Given the description of an element on the screen output the (x, y) to click on. 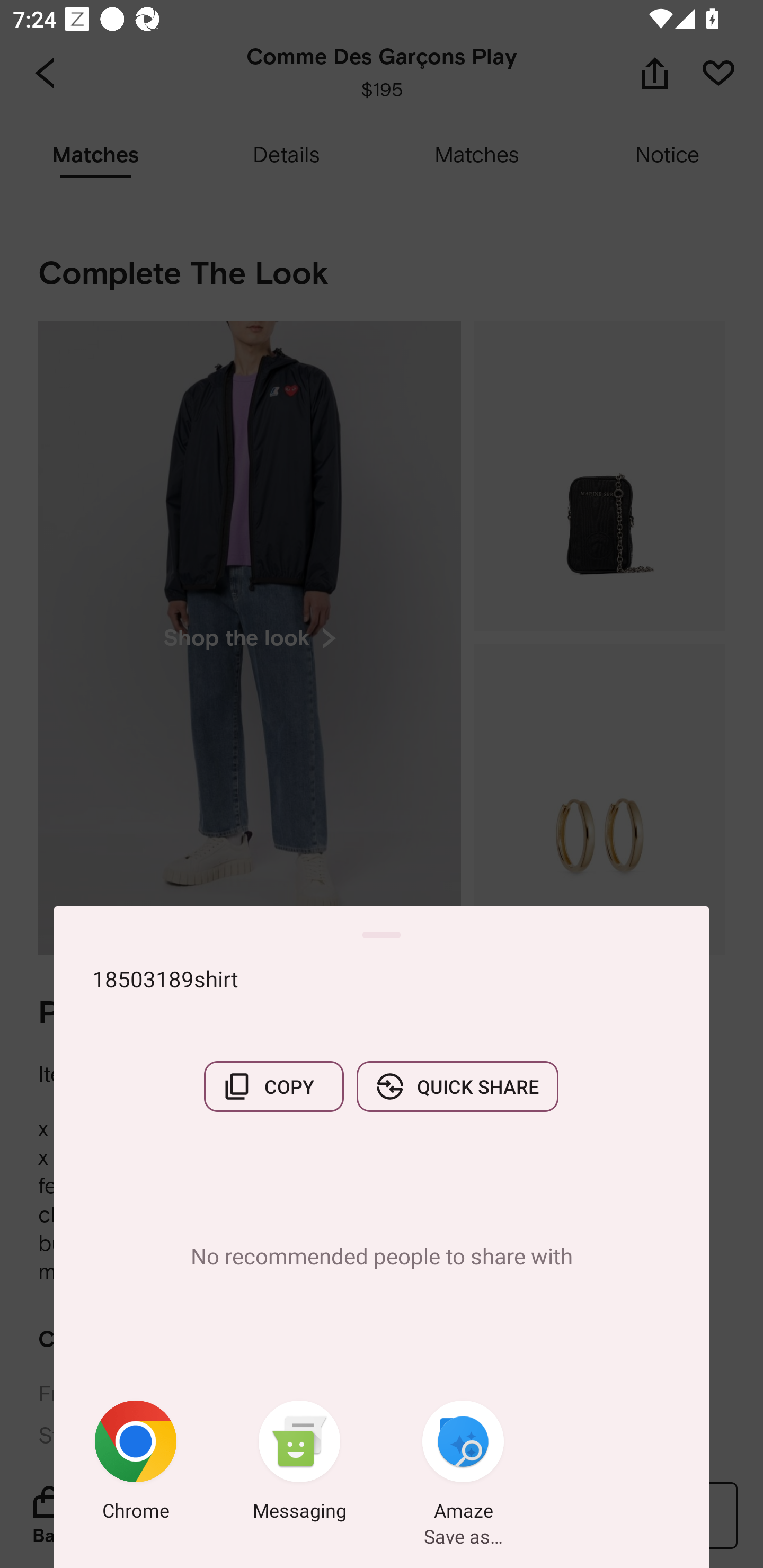
COPY (273, 1086)
QUICK SHARE (457, 1086)
Chrome (135, 1463)
Messaging (299, 1463)
Amaze Save as… (463, 1463)
